Given the description of an element on the screen output the (x, y) to click on. 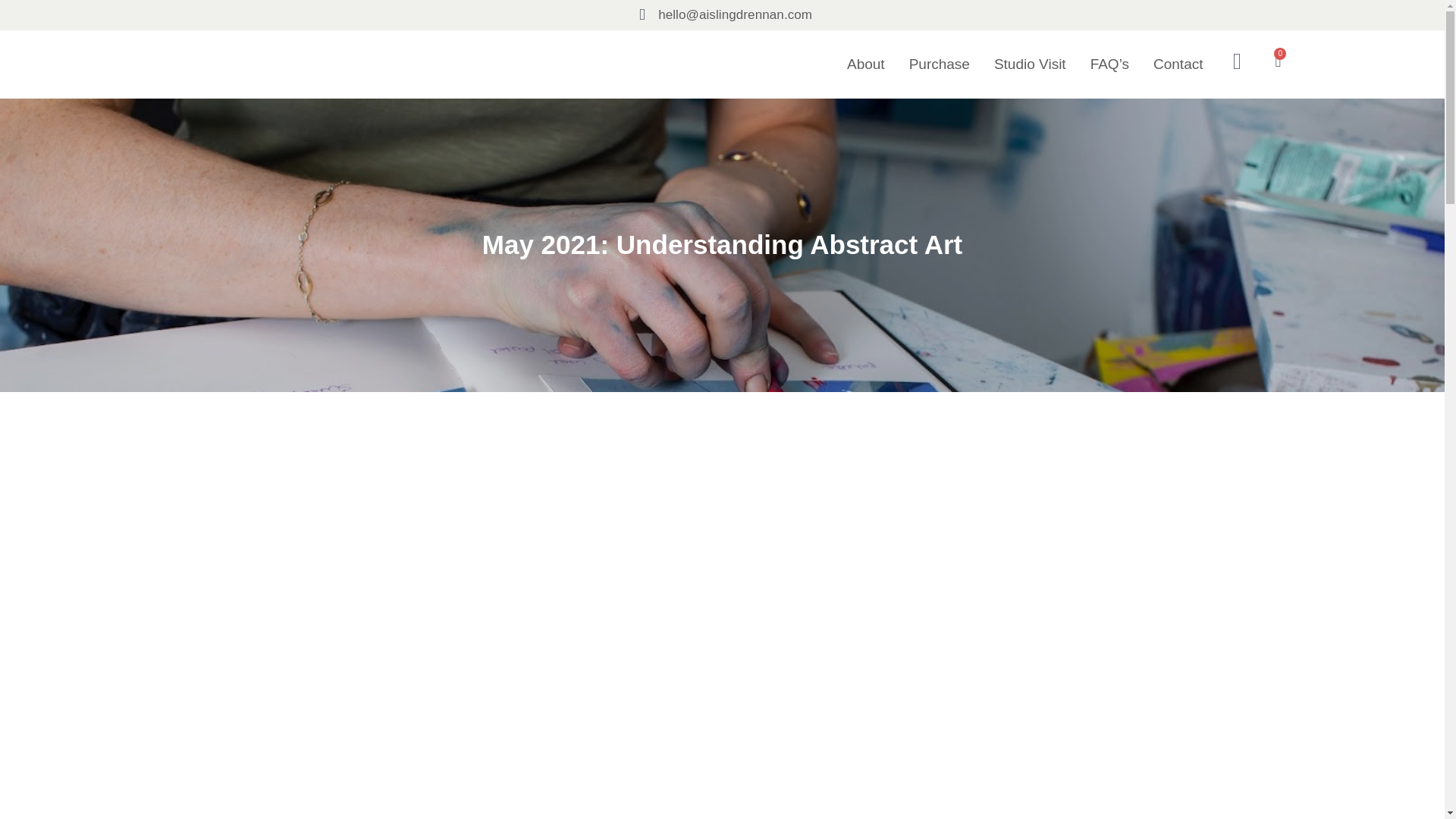
About (866, 63)
Contact (1177, 63)
Purchase (938, 63)
0 (1277, 61)
Studio Visit (1029, 63)
